Given the description of an element on the screen output the (x, y) to click on. 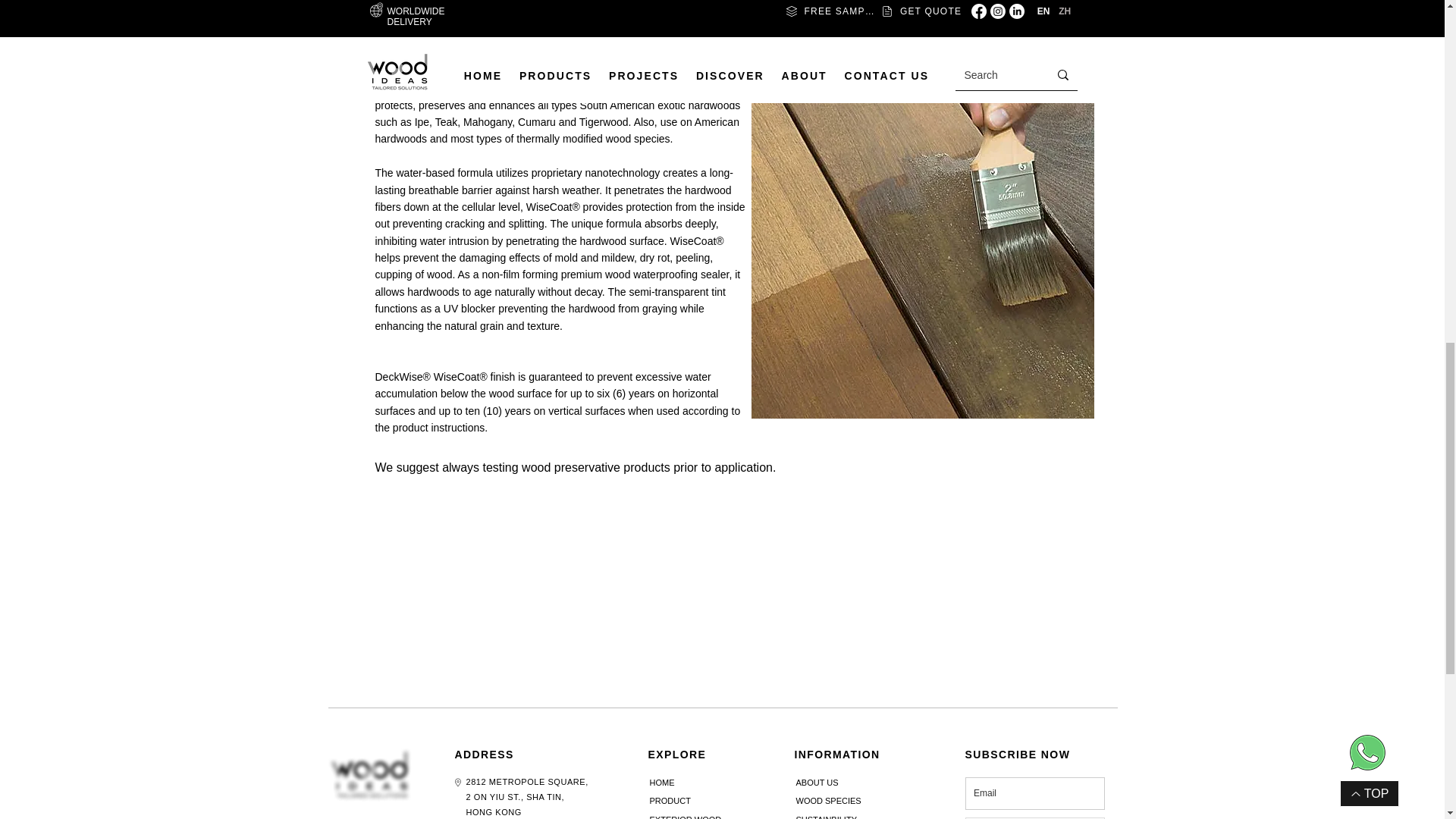
subscribe (1034, 787)
